Given the description of an element on the screen output the (x, y) to click on. 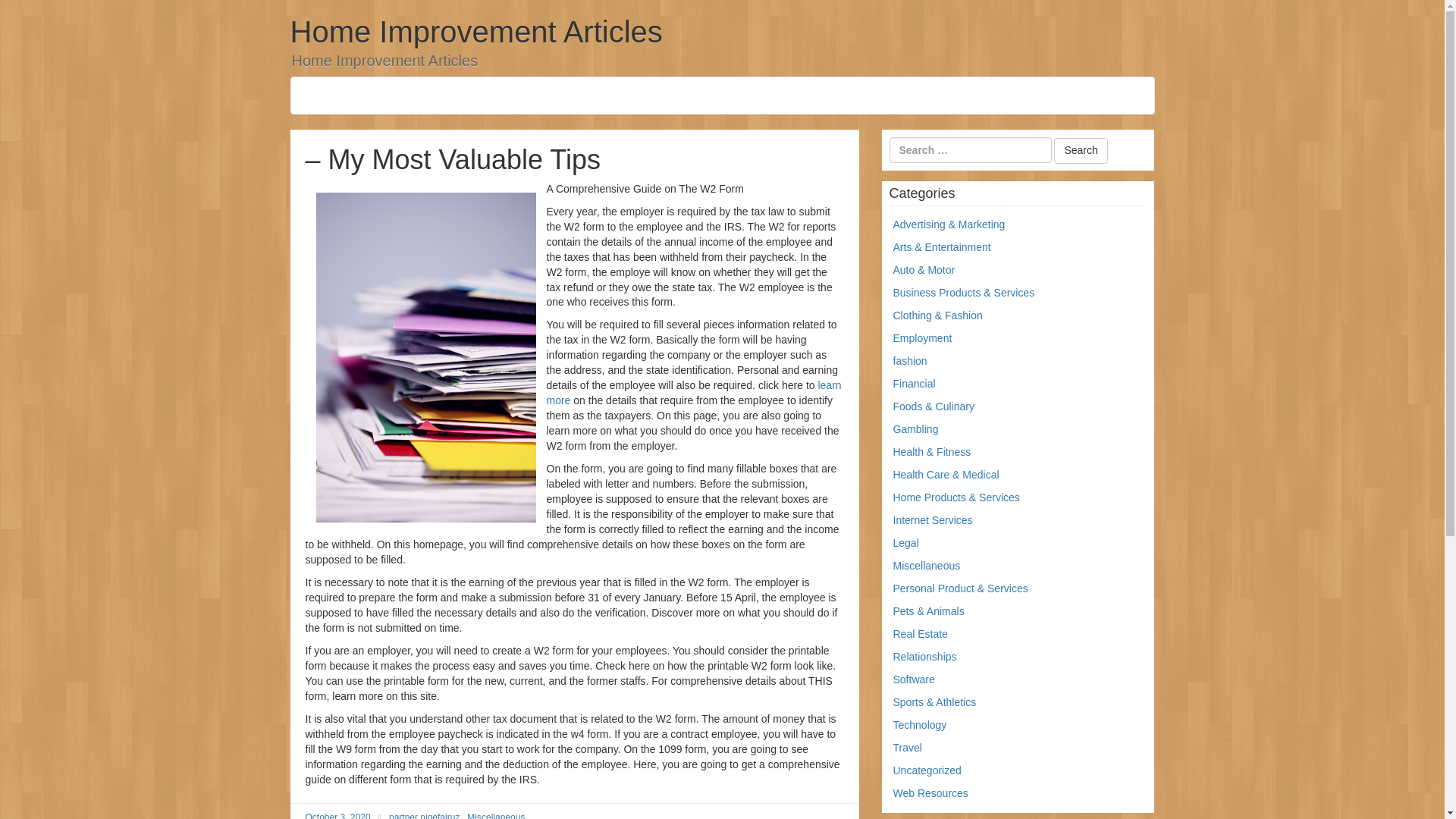
Legal (905, 542)
partner niqefairuz (424, 815)
October 3, 2020 (336, 815)
Technology (920, 725)
Home Improvement Articles (475, 31)
learn more (693, 392)
fashion (910, 360)
Search (1080, 150)
Search (1080, 150)
Employment (922, 337)
